Given the description of an element on the screen output the (x, y) to click on. 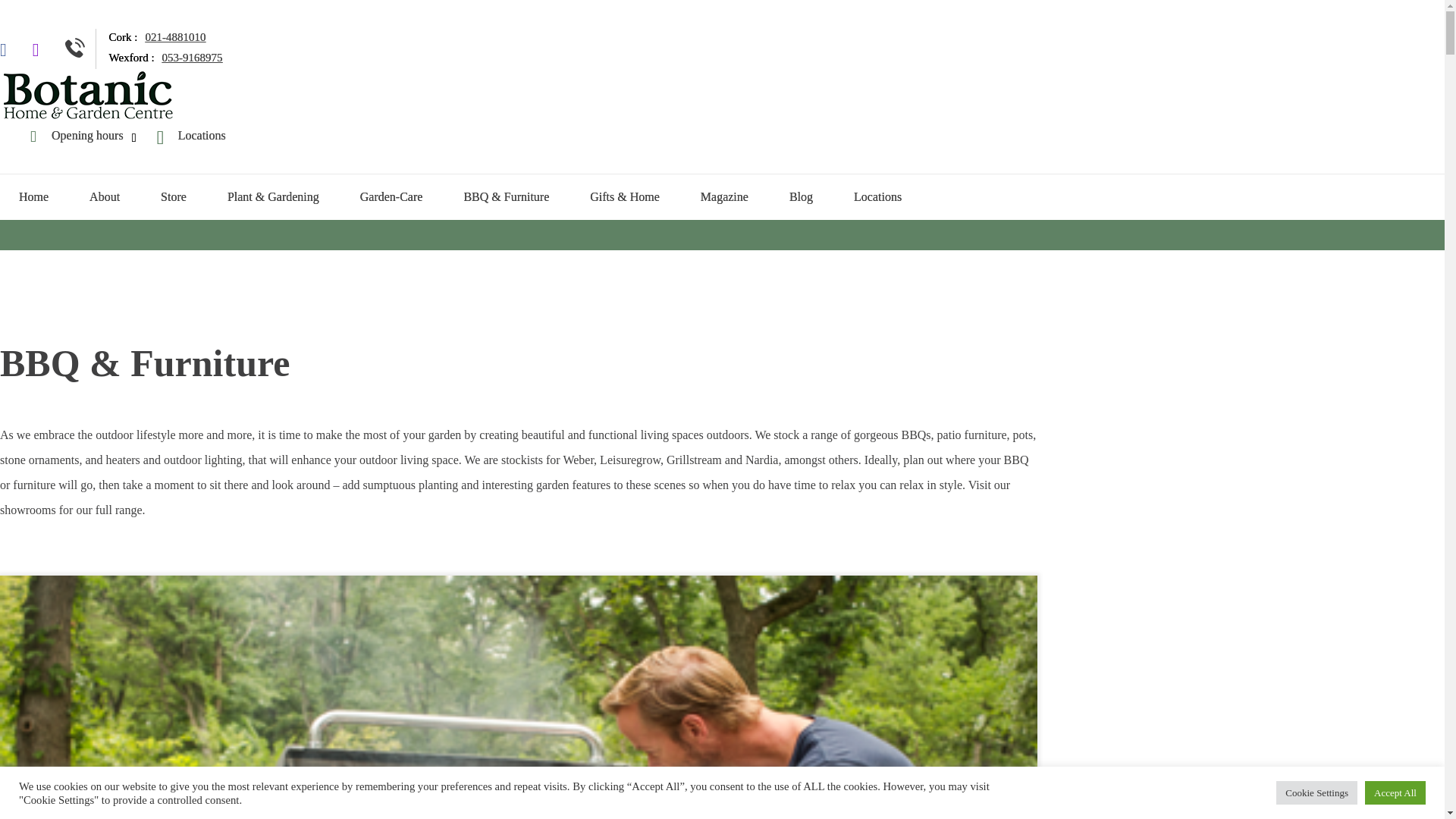
Blog (800, 197)
Home (33, 197)
Locations (191, 134)
053-9168975 (191, 57)
Magazine (724, 197)
021-4881010 (174, 37)
About (103, 197)
Store (173, 197)
Locations (877, 197)
Opening hours (76, 134)
Garden-Care (391, 197)
